Given the description of an element on the screen output the (x, y) to click on. 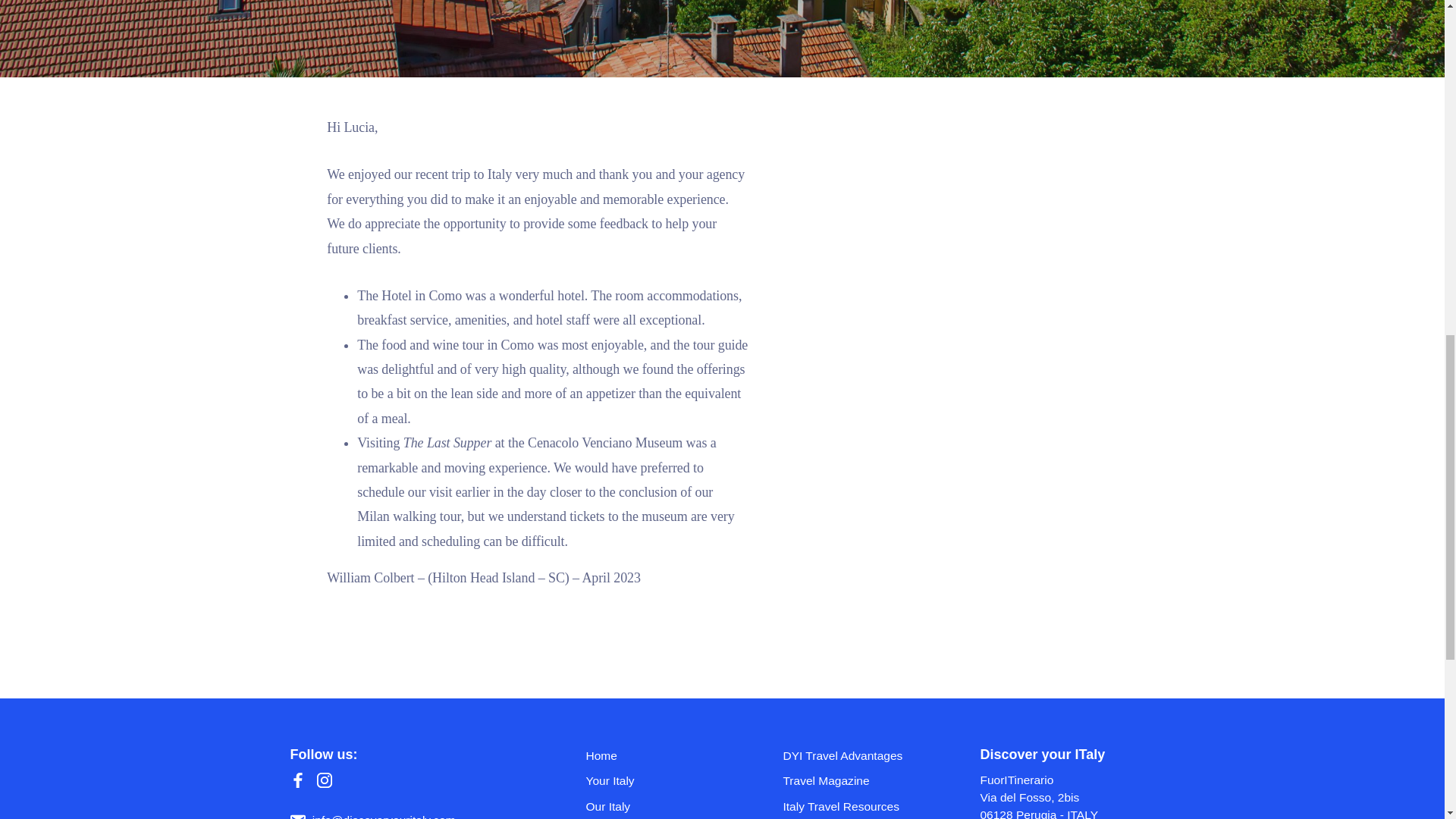
Italy Travel Resources (841, 805)
DYI Travel Advantages (842, 755)
Your Italy (609, 780)
Travel Magazine (826, 780)
Home (600, 755)
Our Italy (607, 805)
